Given the description of an element on the screen output the (x, y) to click on. 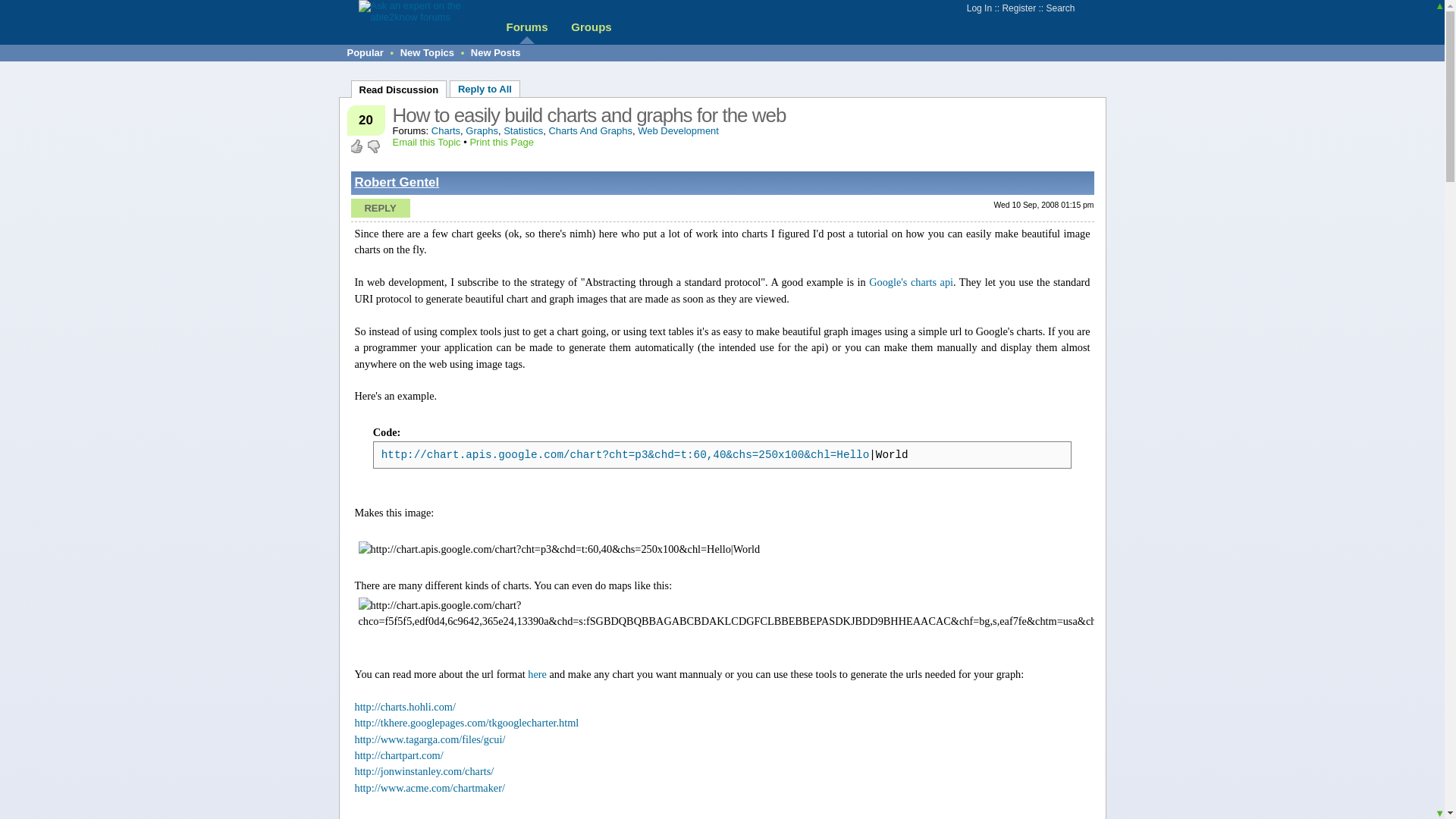
New Posts (495, 52)
Graphs Forum (481, 130)
here (537, 674)
Search (1059, 8)
Print this Page (501, 142)
Log In (978, 8)
Groups (590, 26)
Email this Topic (427, 142)
New Topics (427, 52)
New Posts (495, 52)
